Given the description of an element on the screen output the (x, y) to click on. 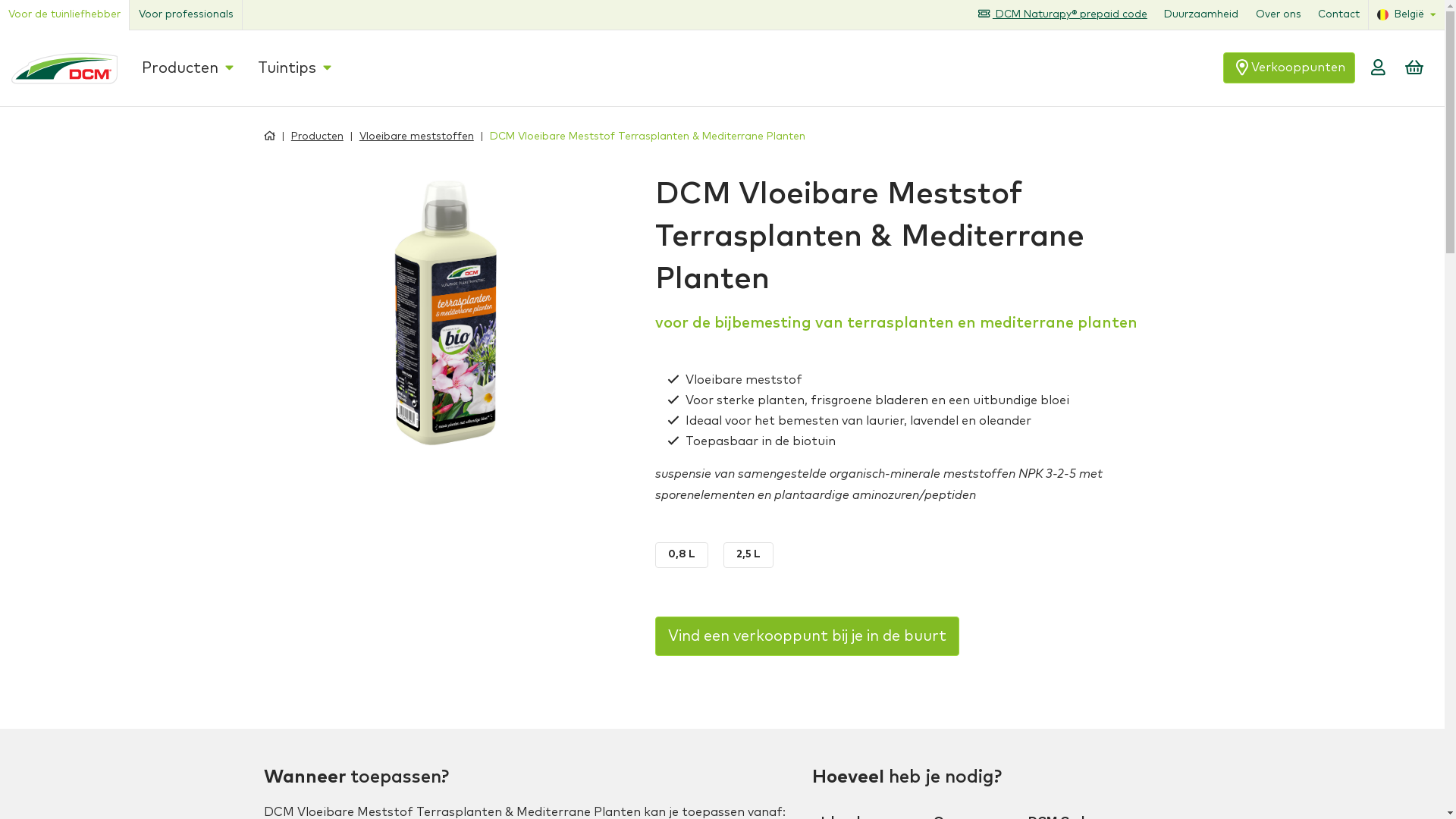
Producten Element type: text (305, 135)
Voor professionals Element type: text (184, 15)
Verkooppunten Element type: text (1328, 67)
Producten Element type: text (181, 67)
Voor de tuinliefhebber Element type: text (64, 15)
Duurzaamheid Element type: text (1209, 15)
Contact Element type: text (1347, 15)
Tuintips Element type: text (276, 67)
Vind een verkooppunt bij je in de buurt Element type: text (807, 635)
Vloeibare meststoffen Element type: text (404, 135)
Over ons Element type: text (1286, 15)
